Given the description of an element on the screen output the (x, y) to click on. 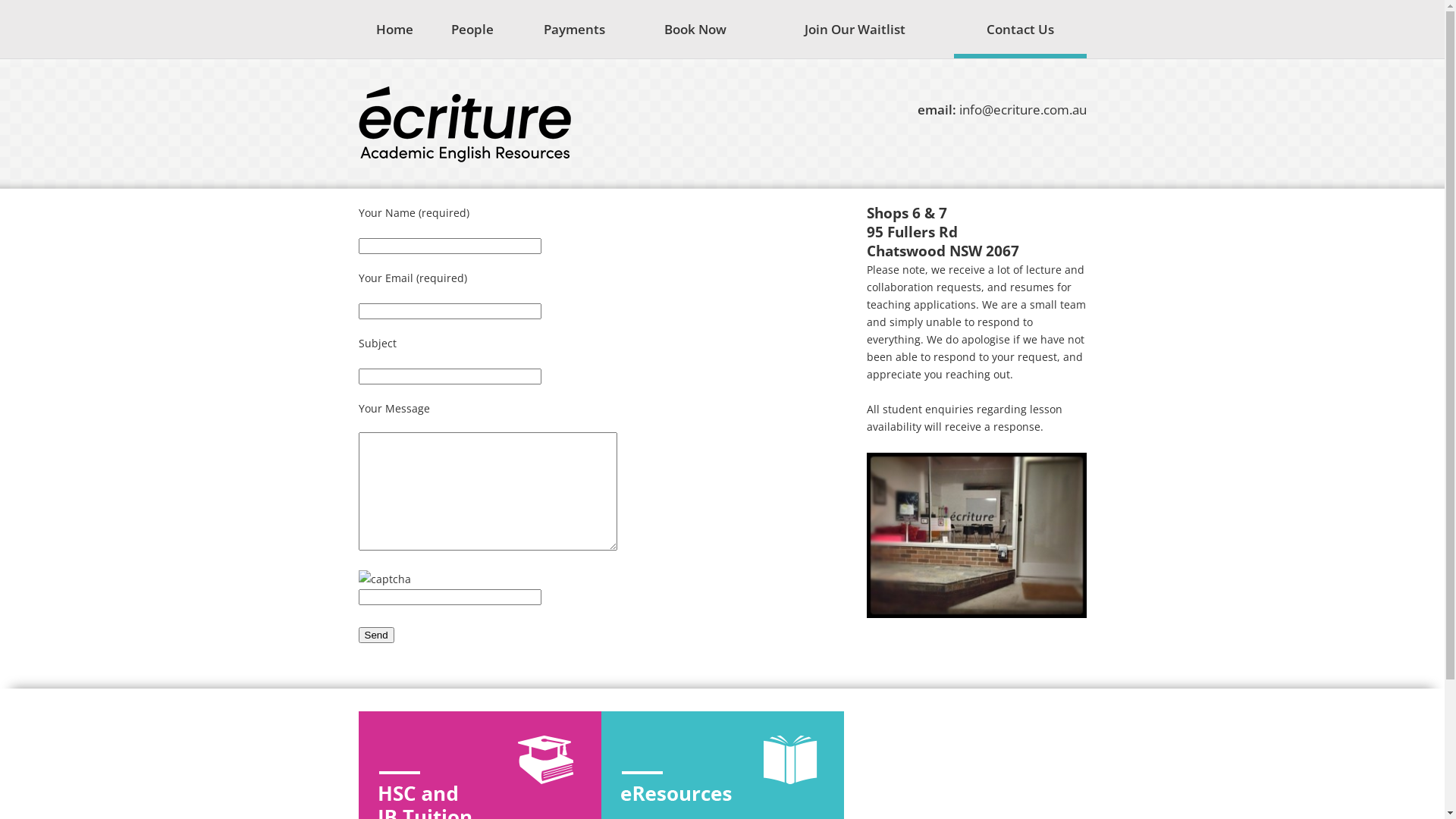
Join Our Waitlist Element type: text (855, 29)
Send Element type: text (375, 635)
Contact Us Element type: text (1019, 29)
Book Now Element type: text (695, 29)
Payments Element type: text (574, 29)
Home Element type: text (393, 29)
People Element type: text (472, 29)
